Given the description of an element on the screen output the (x, y) to click on. 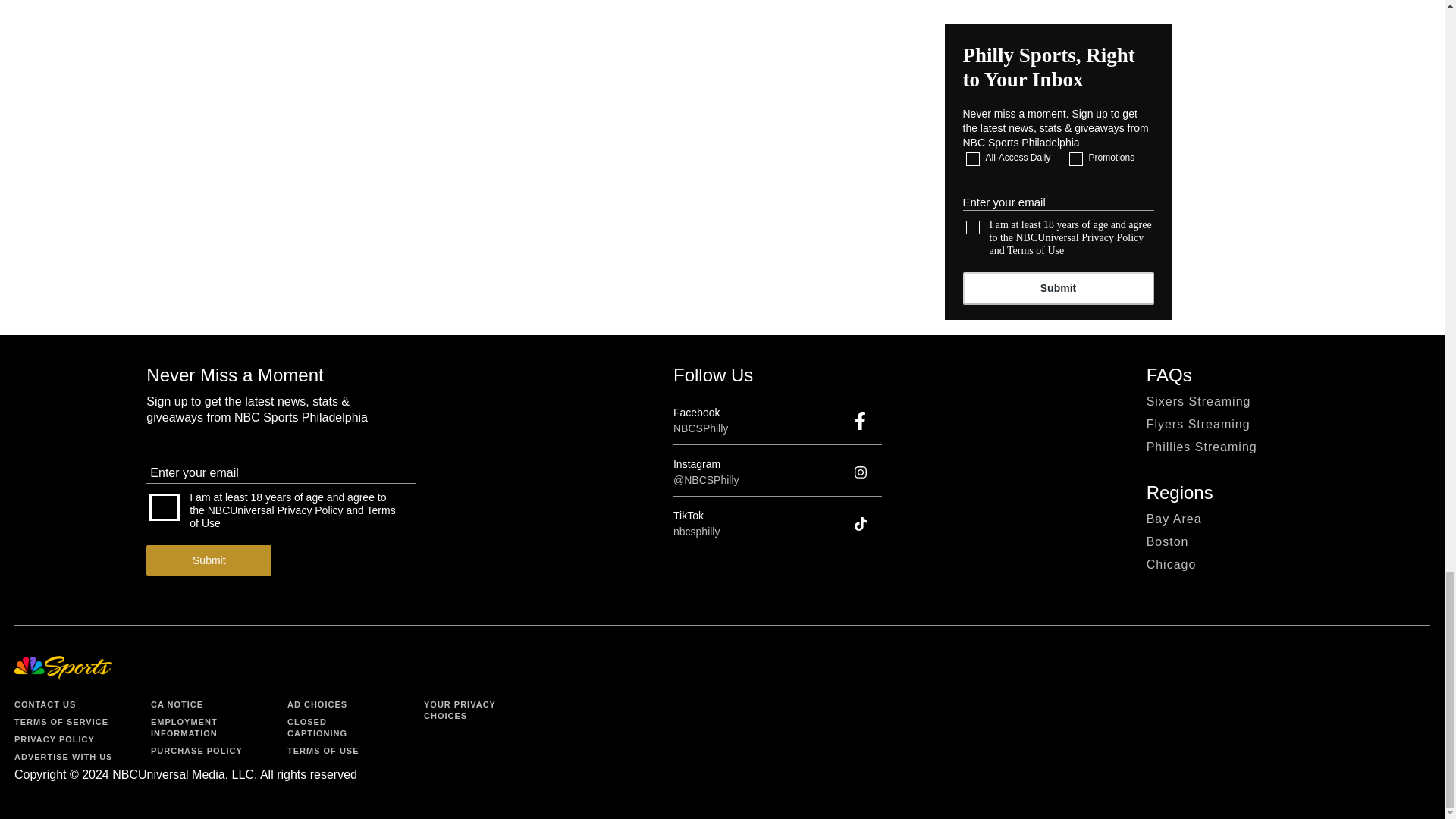
Terms of Use (1035, 250)
NBCUniversal Privacy Policy (275, 510)
on (164, 506)
Submit (1058, 287)
on (972, 227)
on (972, 159)
NBCUniversal Privacy Policy (1080, 237)
on (1075, 159)
